Given the description of an element on the screen output the (x, y) to click on. 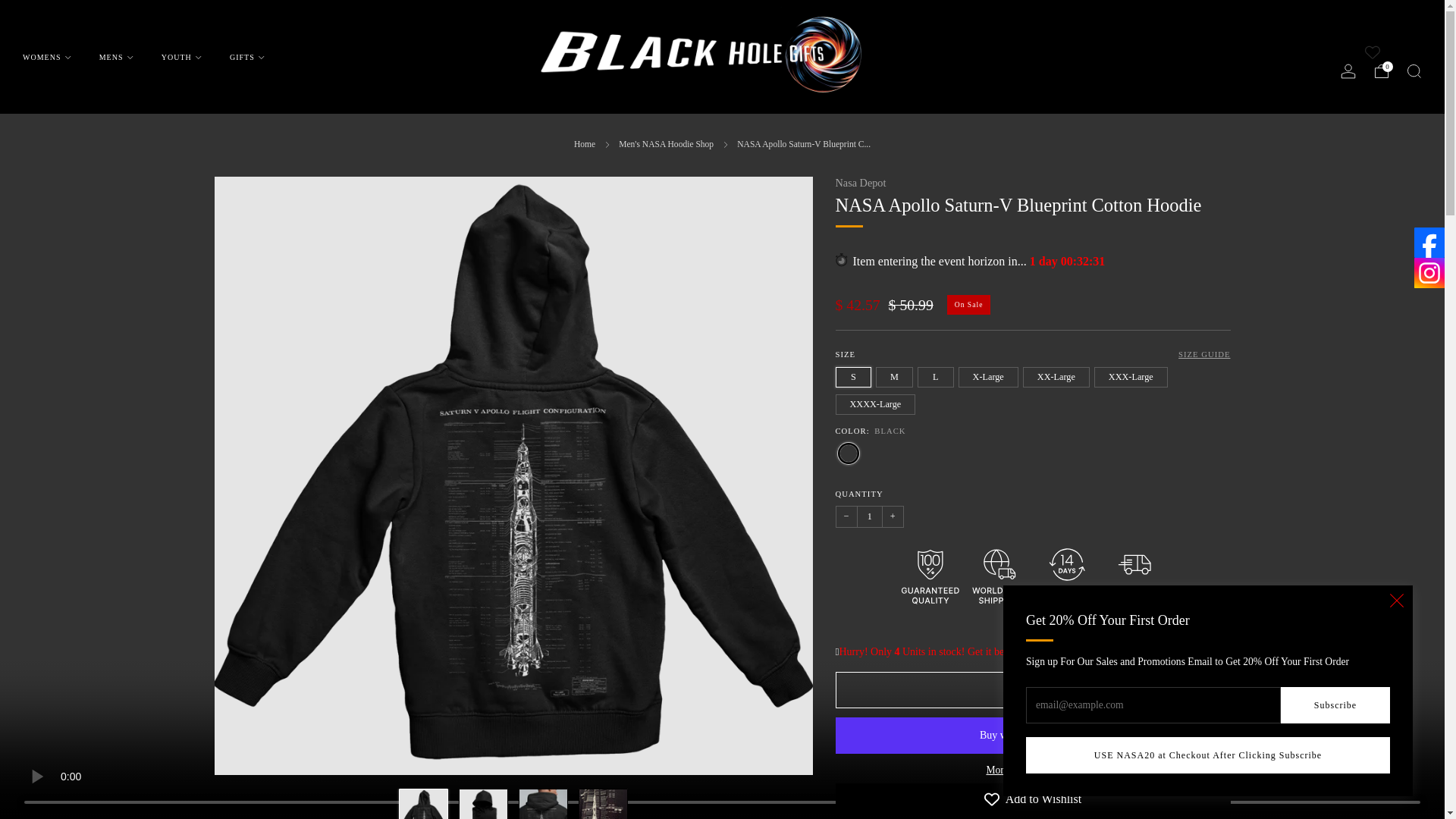
1 (869, 516)
0 (1381, 70)
XXXX-Large (877, 400)
MENS (116, 55)
XX-Large (1058, 373)
YOUTH (181, 55)
S (855, 373)
XXX-Large (1133, 373)
WOMENS (47, 55)
